Given the description of an element on the screen output the (x, y) to click on. 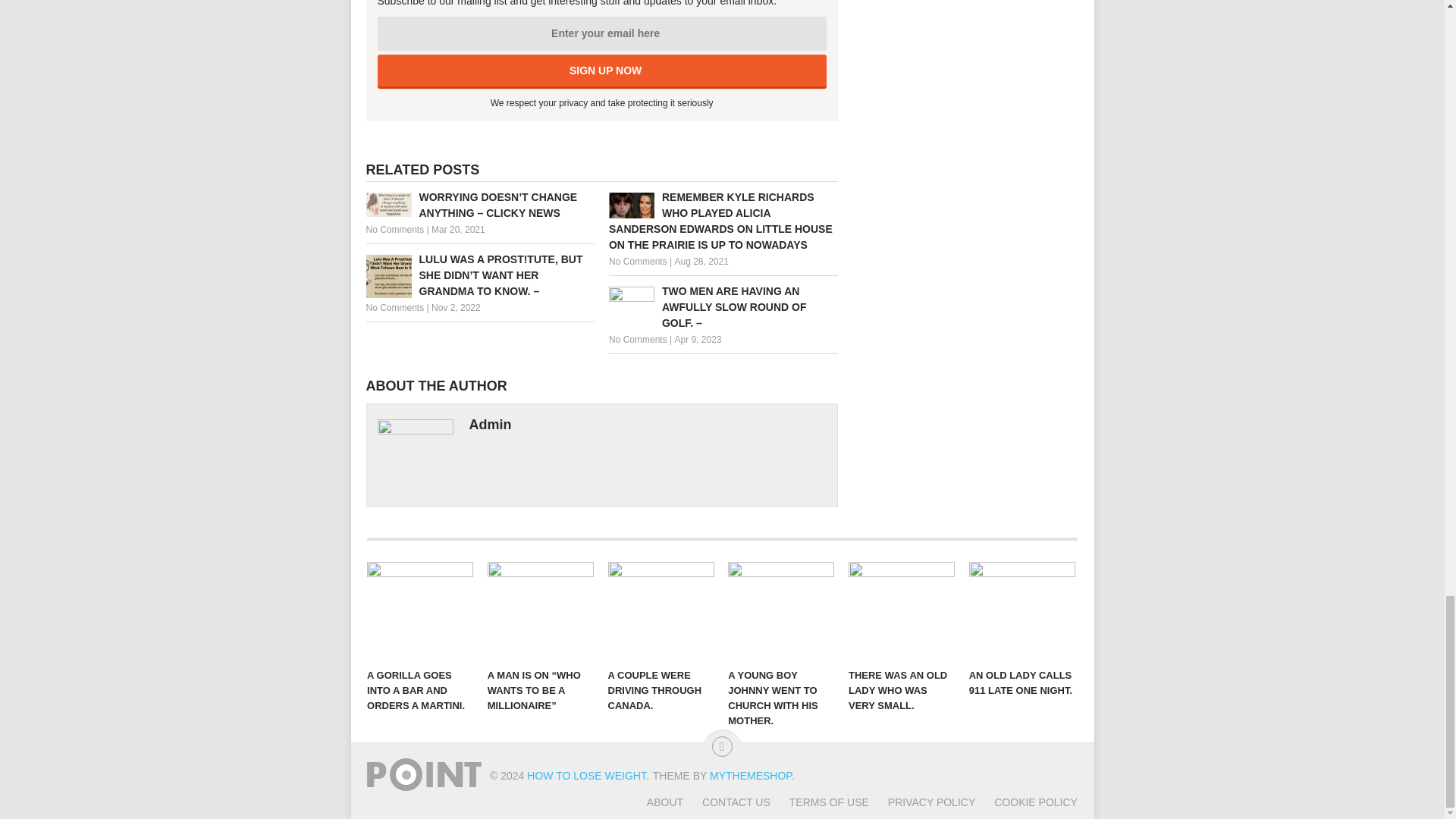
Sign Up Now (602, 71)
A YOUNG BOY JOHNNY WENT TO CHURCH WITH HIS MOTHER. (781, 610)
AN OLD LADY CALLS 911 LATE ONE NIGHT. (1022, 610)
A COUPLE WERE DRIVING THROUGH CANADA. (661, 610)
THERE WAS AN OLD LADY WHO WAS VERY SMALL. (901, 610)
No Comments (637, 339)
A GORILLA GOES INTO A BAR AND ORDERS A MARTINI. (419, 610)
No Comments (394, 307)
No Comments (394, 229)
